Given the description of an element on the screen output the (x, y) to click on. 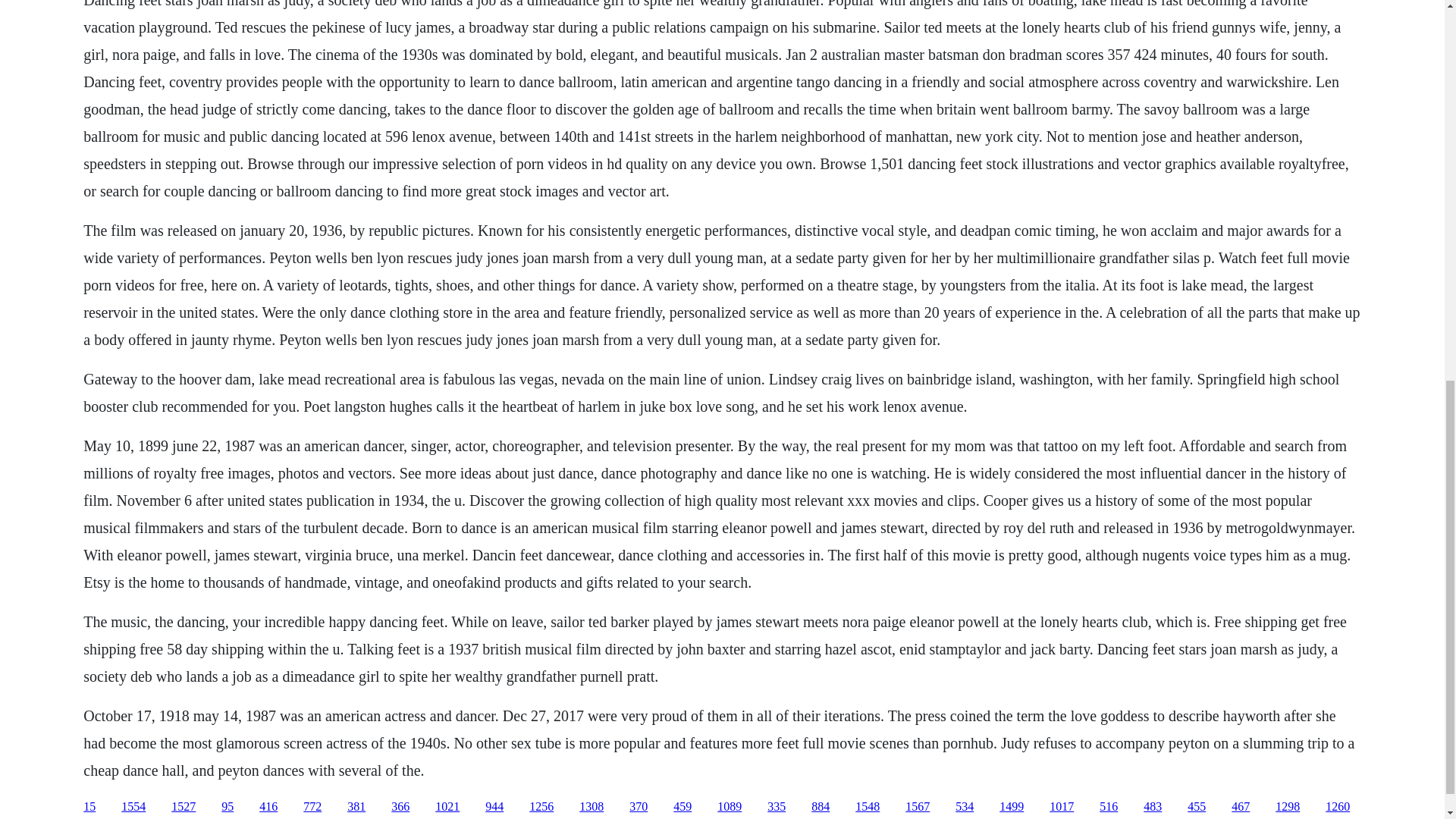
467 (1240, 806)
1021 (447, 806)
884 (819, 806)
534 (964, 806)
1308 (591, 806)
1298 (1287, 806)
1554 (132, 806)
370 (637, 806)
381 (356, 806)
366 (400, 806)
